Given the description of an element on the screen output the (x, y) to click on. 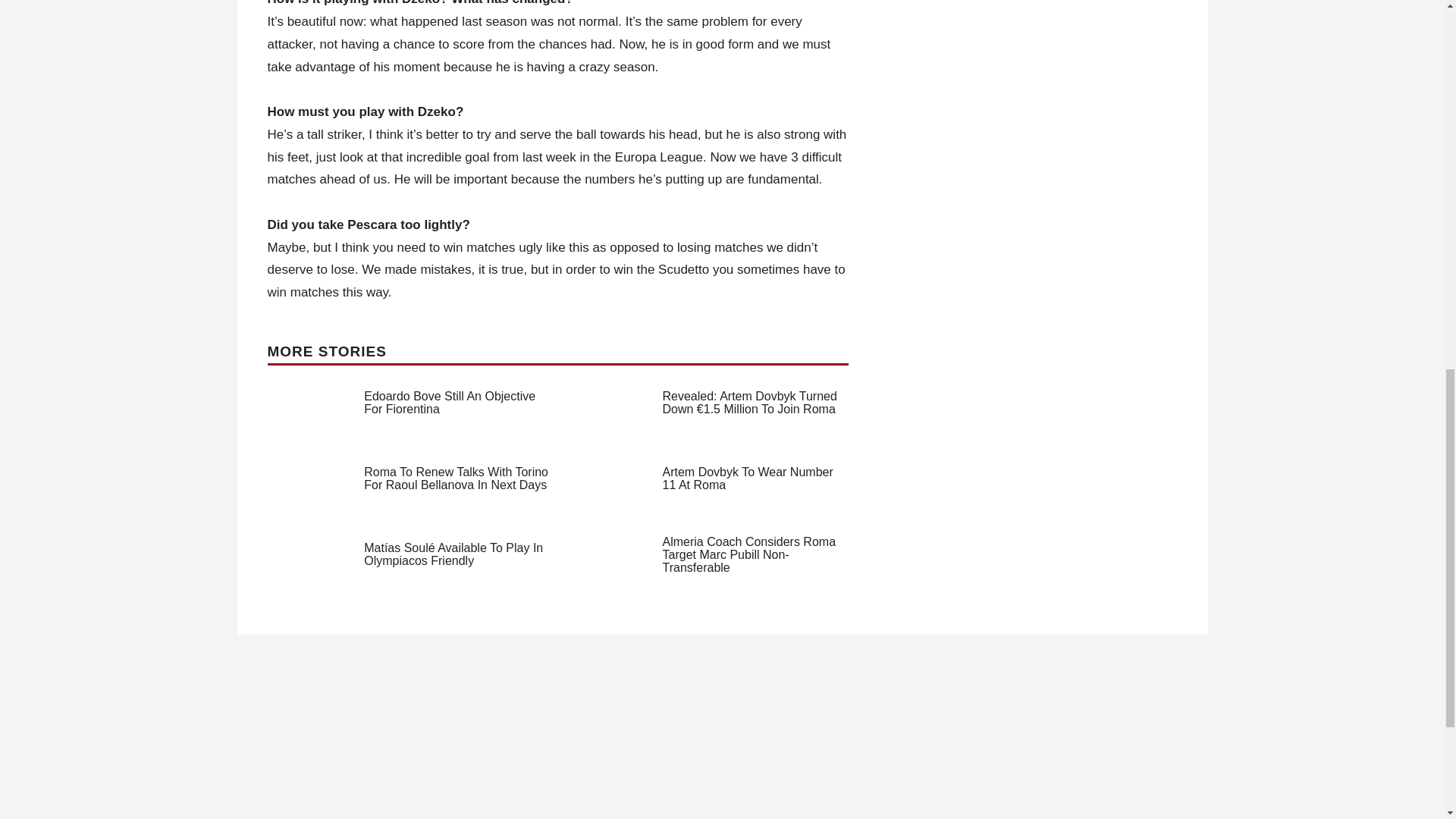
Artem Dovbyk To Wear Number 11 At Roma (747, 478)
Edoardo Bove Still An Objective For Fiorentina (449, 402)
